Given the description of an element on the screen output the (x, y) to click on. 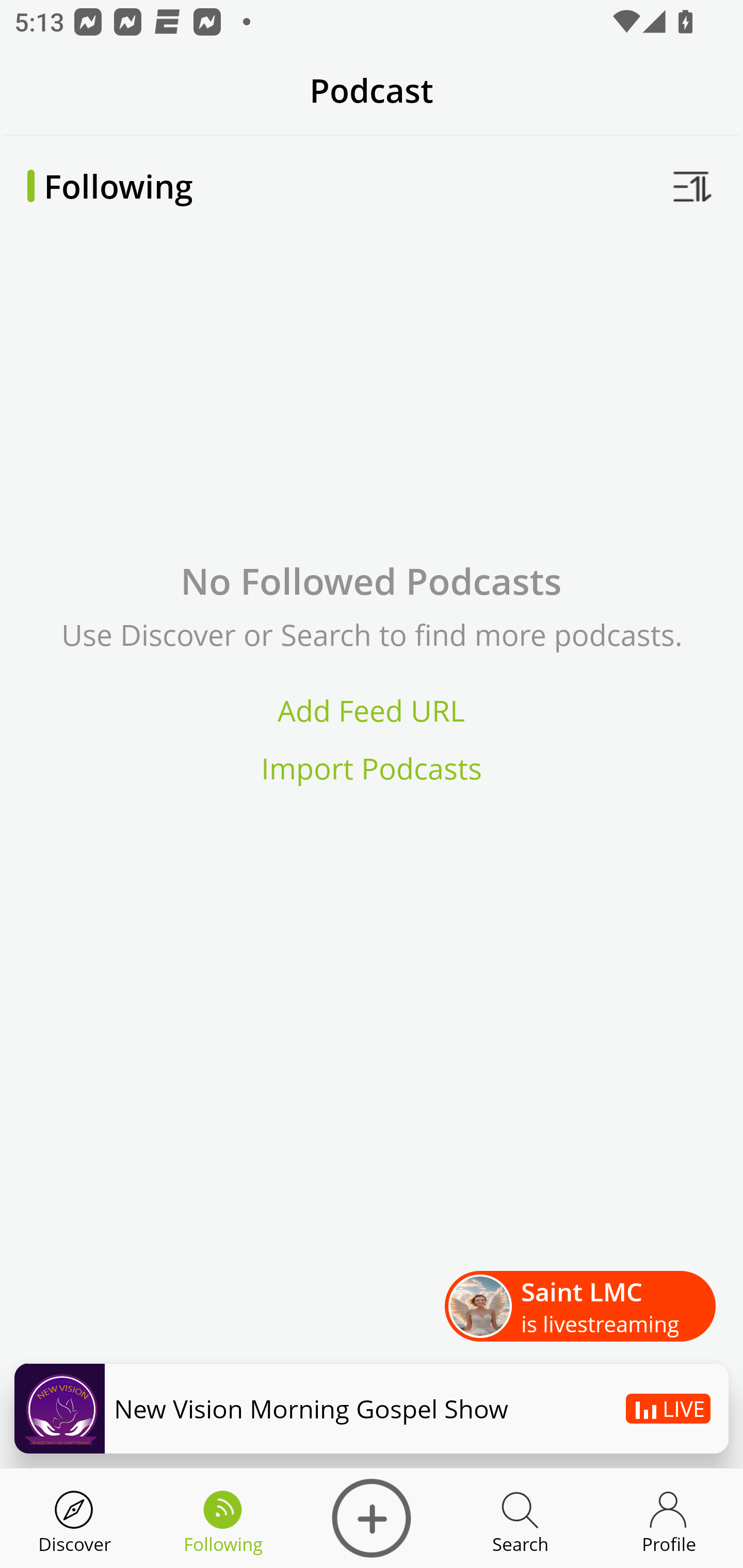
Add Feed URL (371, 709)
Import Podcasts (371, 767)
Saint LMC is livestreaming (580, 1306)
Podbean New Vision Morning Gospel Show LIVE (371, 1407)
Discover (74, 1518)
Discover (371, 1518)
Discover Search (519, 1518)
Discover Profile (668, 1518)
